Given the description of an element on the screen output the (x, y) to click on. 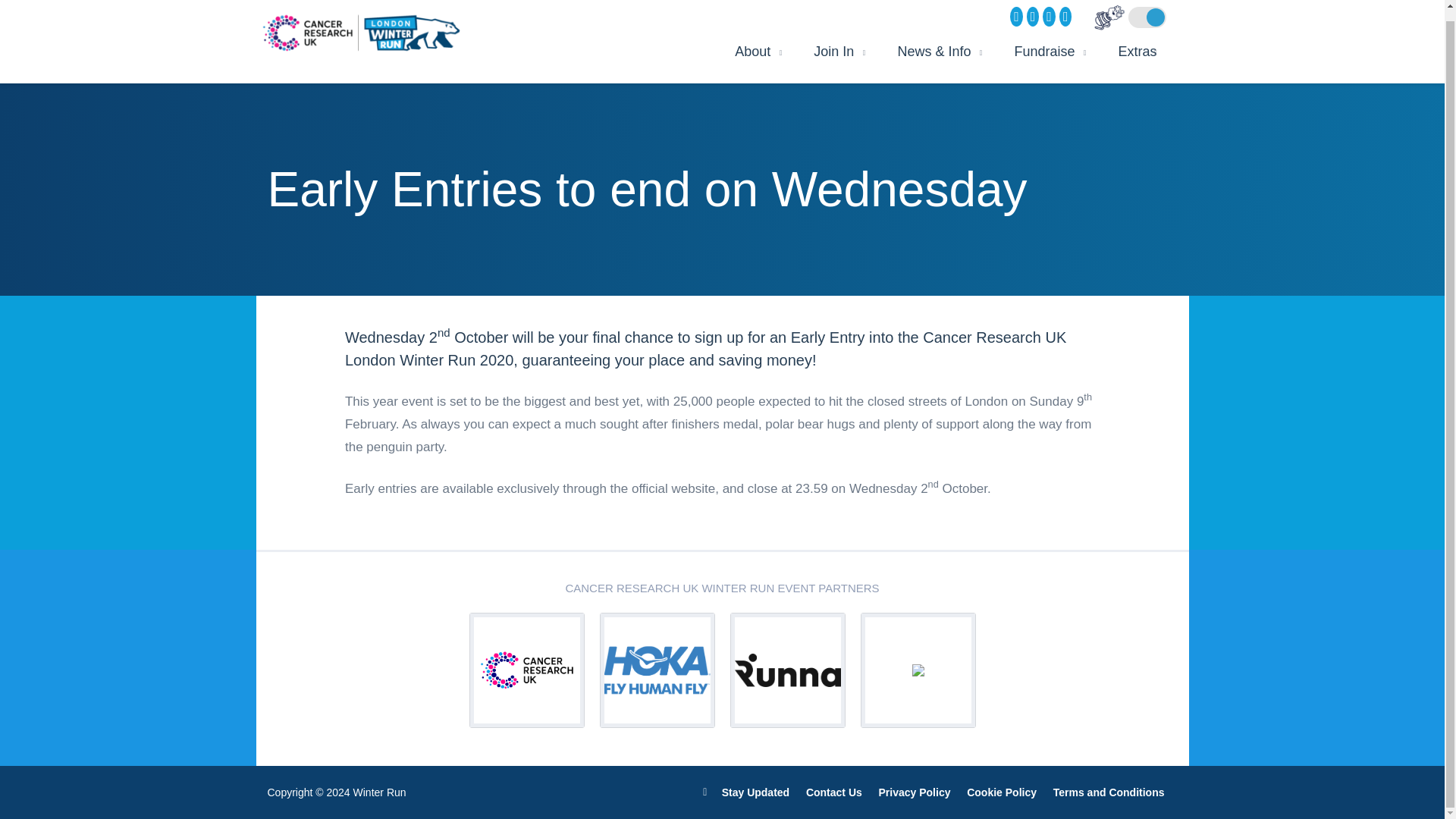
Join In (833, 51)
About (752, 51)
Stay Updated (746, 792)
Contact Us (833, 792)
Fundraise (1044, 51)
Extras (1131, 51)
